Given the description of an element on the screen output the (x, y) to click on. 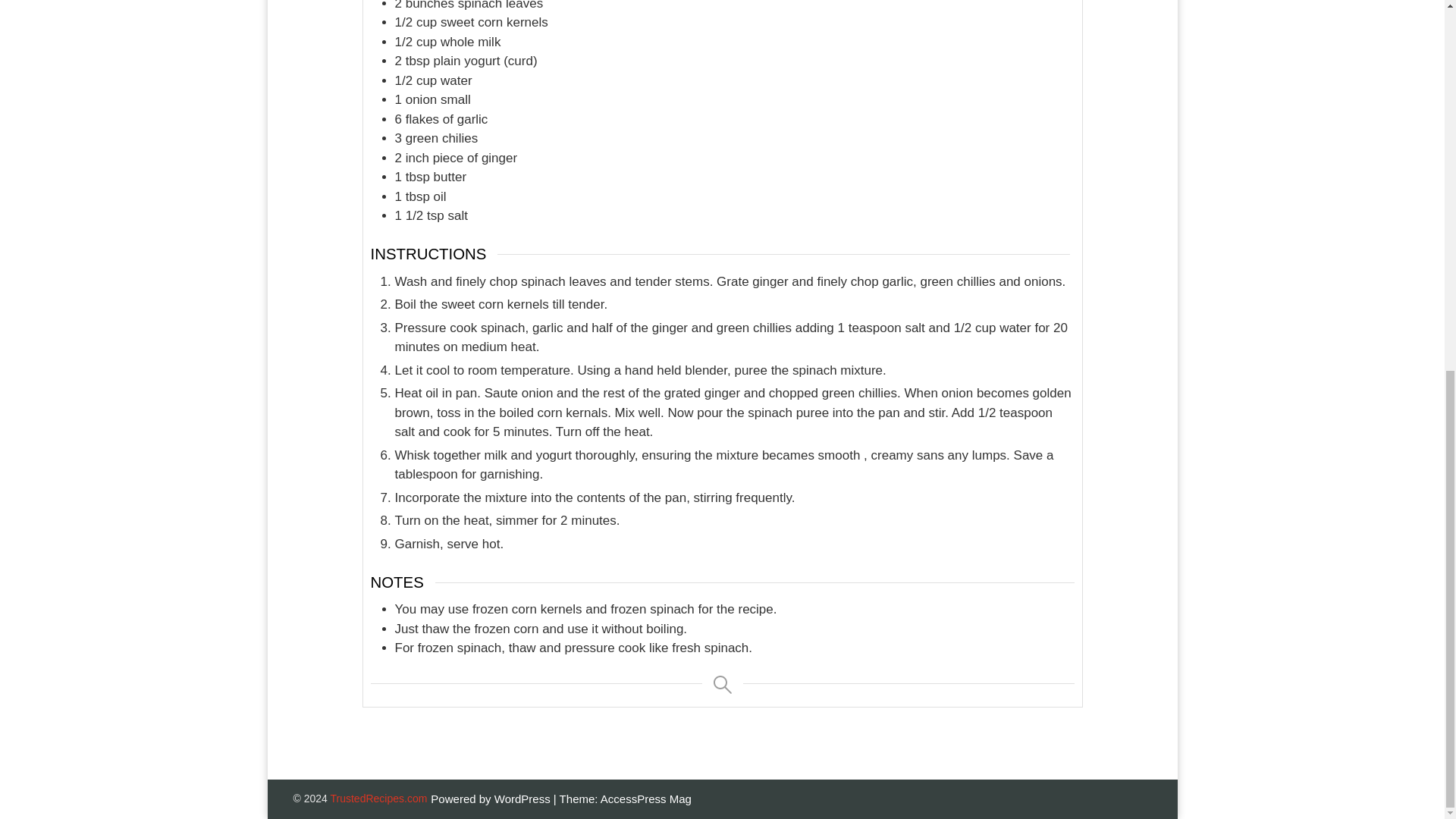
WordPress (524, 798)
AccessPress Themes (645, 798)
TrustedRecipes.com (379, 798)
AccessPress Mag (645, 798)
